Given the description of an element on the screen output the (x, y) to click on. 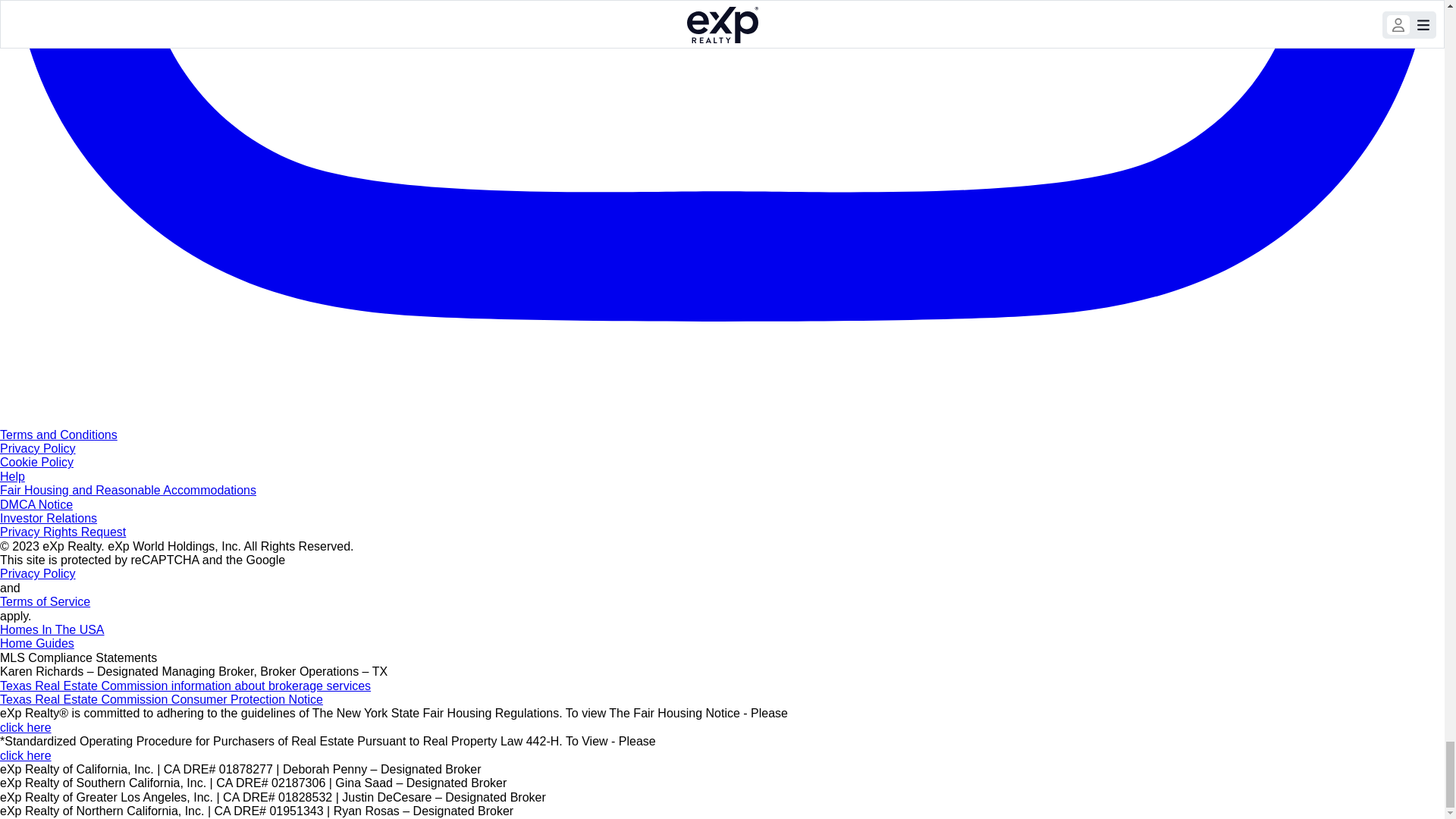
Help (12, 476)
DMCA Notice (36, 504)
Texas Real Estate Commission Consumer Protection Notice (161, 698)
Terms and Conditions (58, 434)
Fair Housing and Reasonable Accommodations (128, 490)
Investor Relations (48, 517)
Privacy Rights Request (62, 531)
Cookie Policy (37, 461)
Home Guides (37, 643)
click here (25, 727)
Privacy Policy (37, 448)
click here (25, 755)
Privacy Policy (37, 573)
Terms of Service (45, 601)
